Given the description of an element on the screen output the (x, y) to click on. 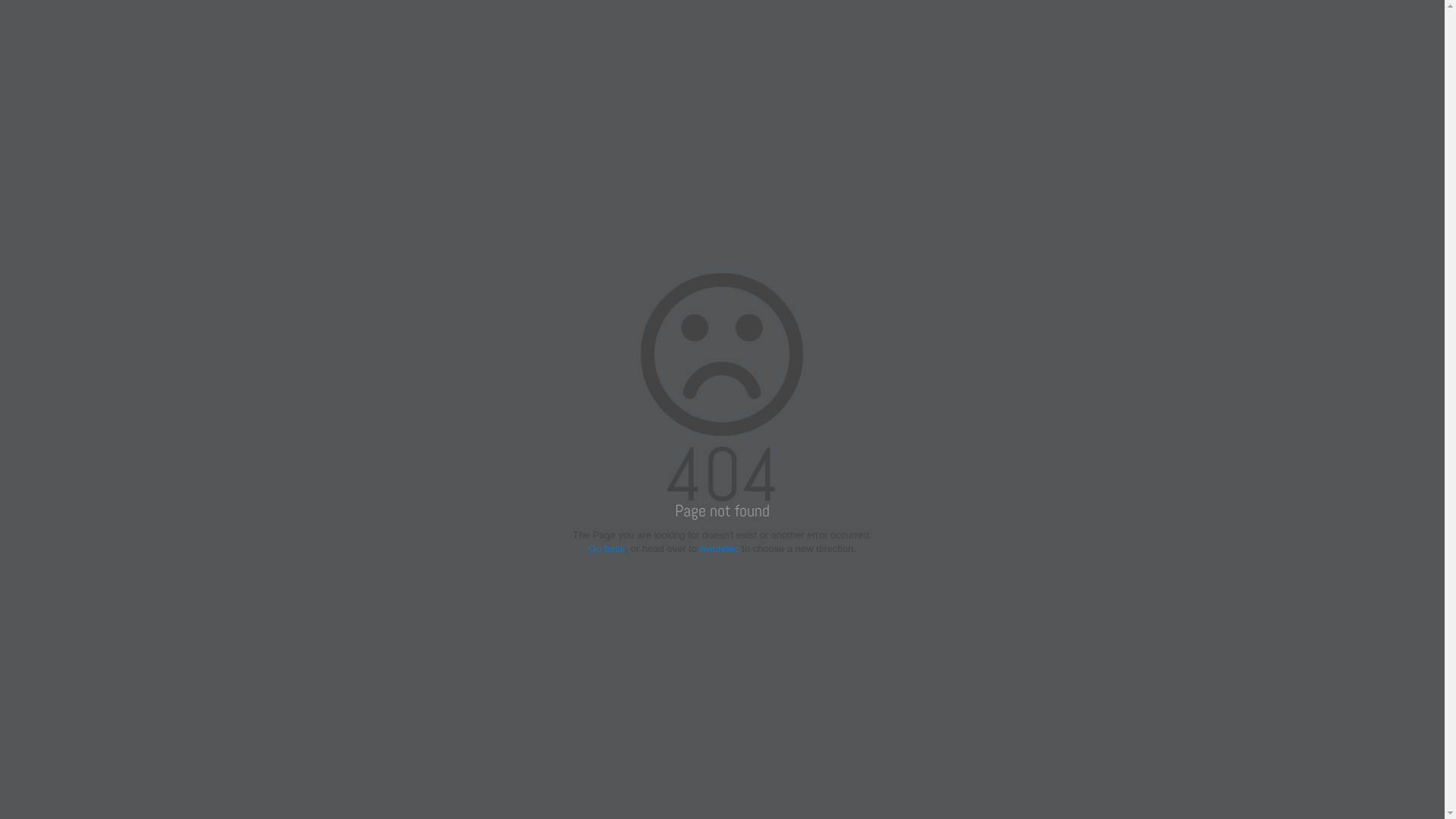
Go back Element type: text (606, 548)
Avionitec Element type: text (719, 548)
